Given the description of an element on the screen output the (x, y) to click on. 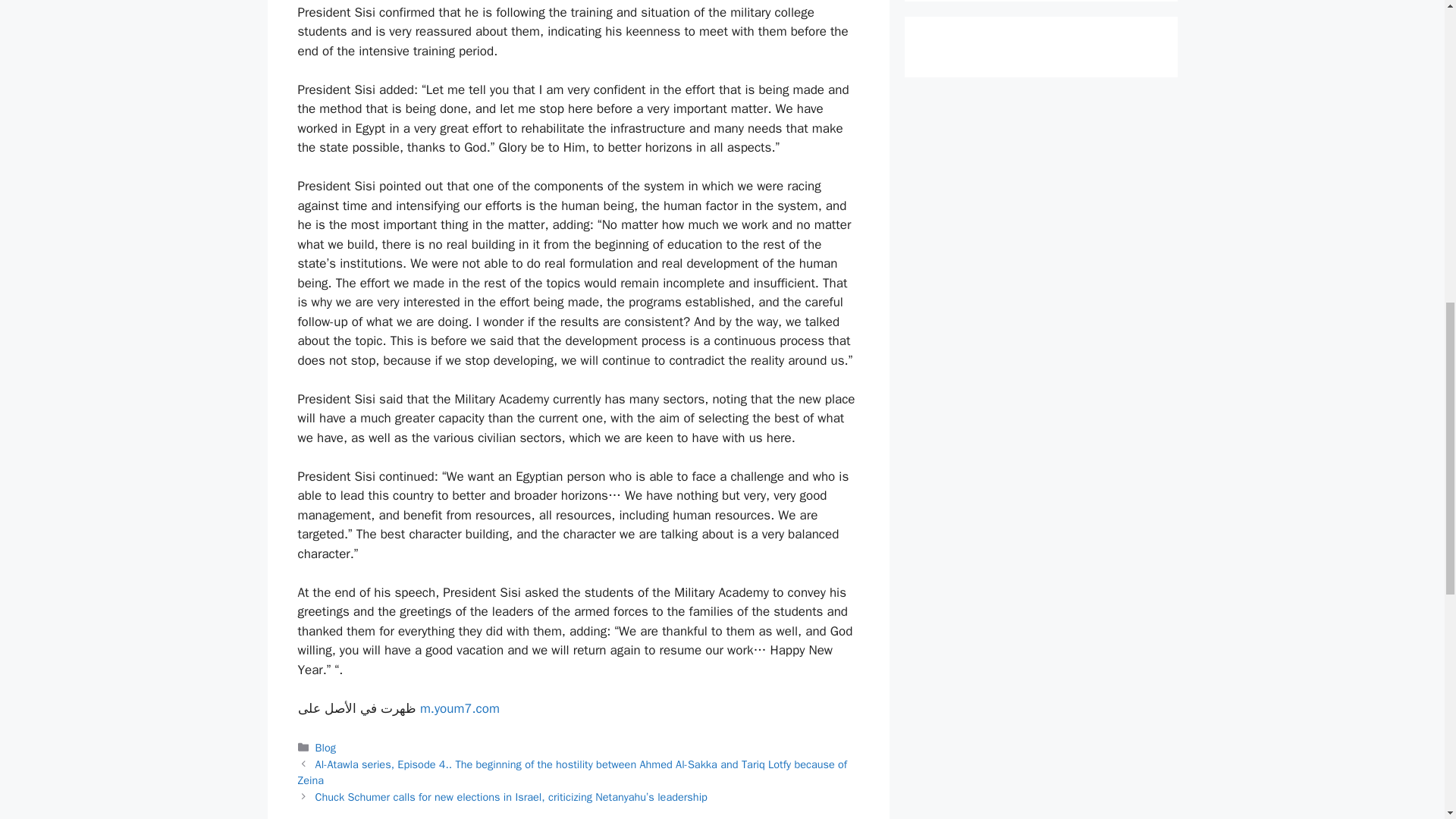
m.youm7.com (459, 708)
Blog (325, 747)
